Given the description of an element on the screen output the (x, y) to click on. 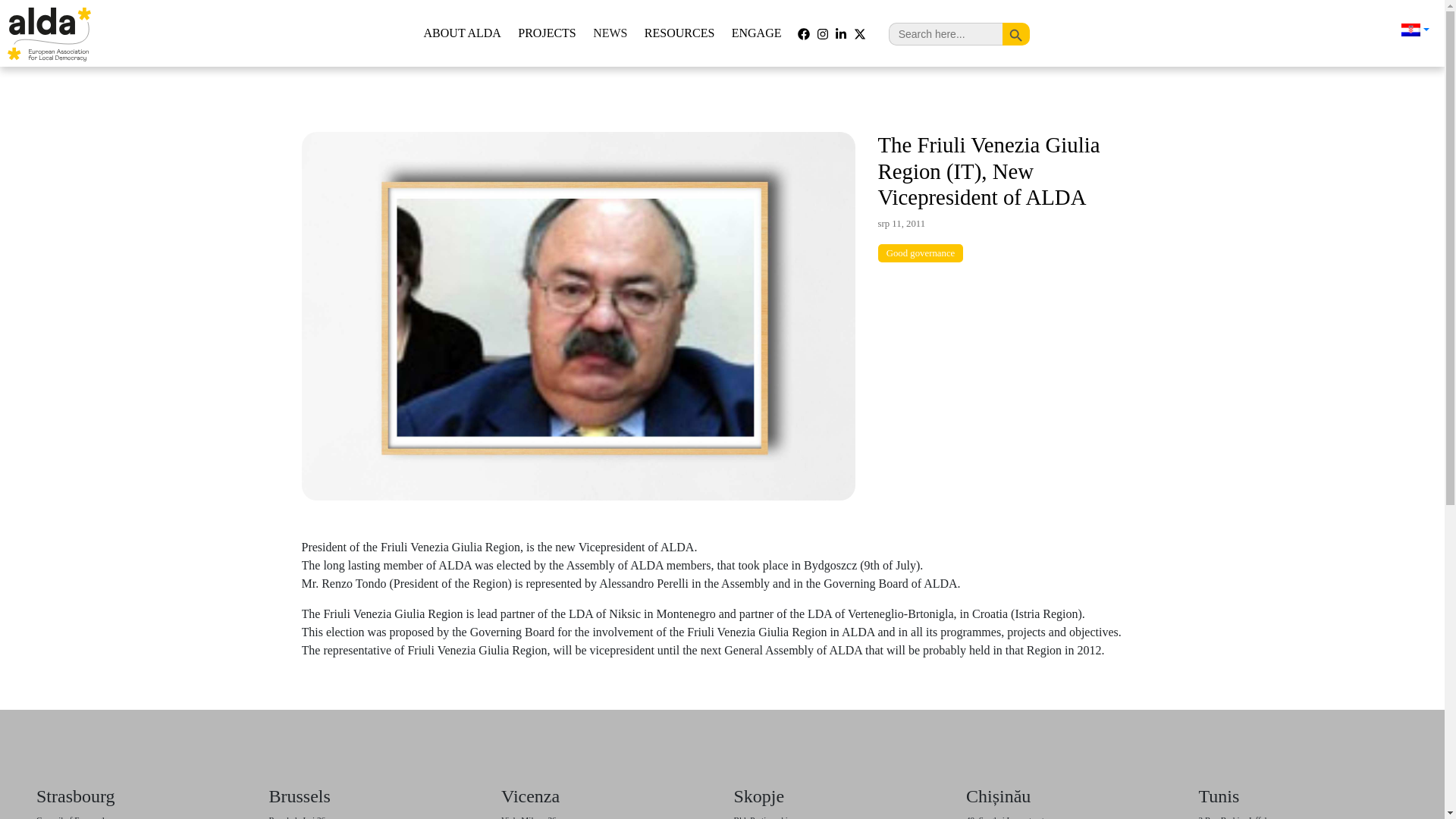
Search Button (1016, 33)
Good governance (920, 253)
PROJECTS (547, 33)
ENGAGE (756, 33)
RESOURCES (679, 33)
ABOUT ALDA (461, 33)
